Given the description of an element on the screen output the (x, y) to click on. 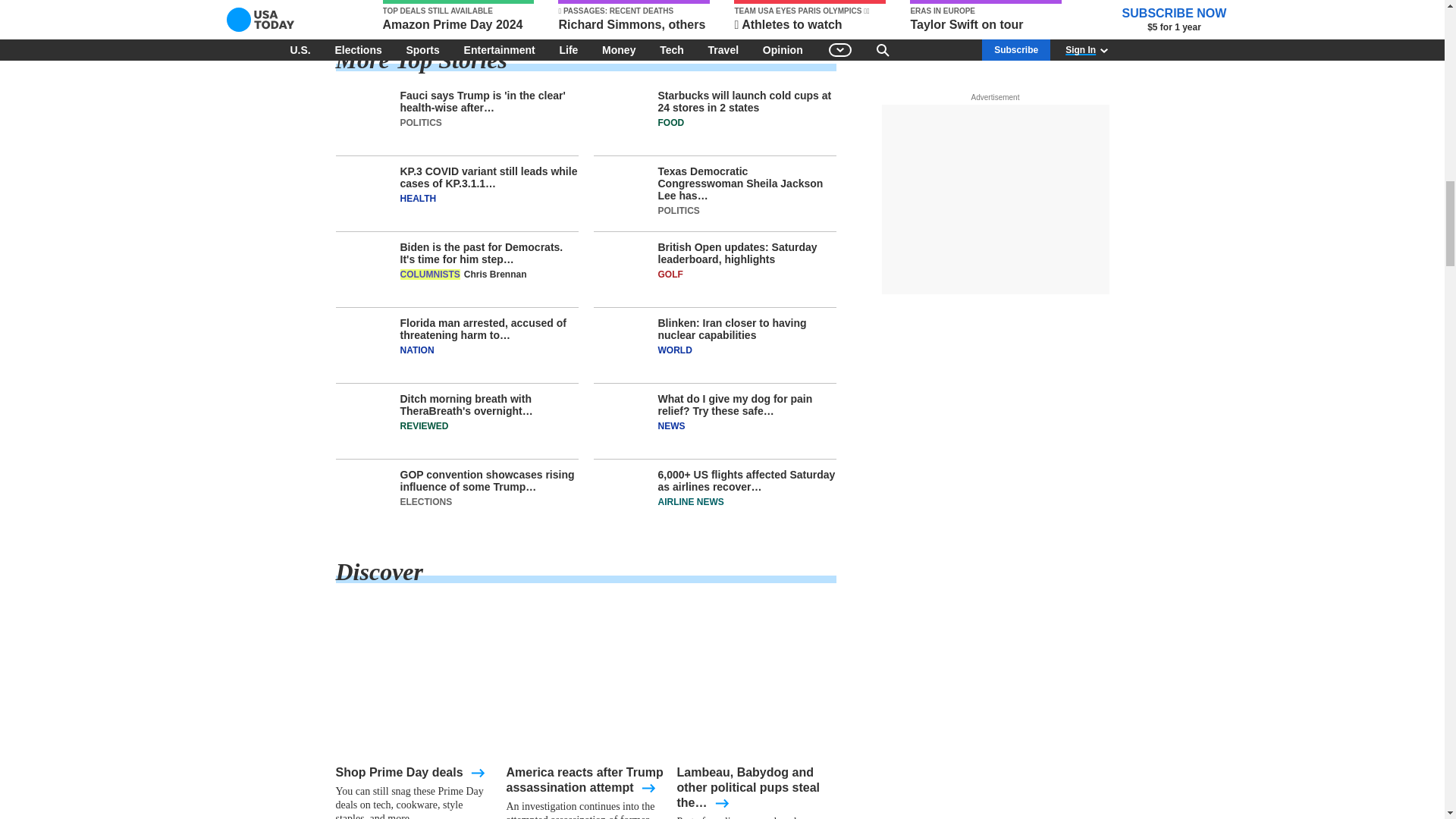
Ditch morning breath with TheraBreath's overnight mouthwash (456, 426)
